Given the description of an element on the screen output the (x, y) to click on. 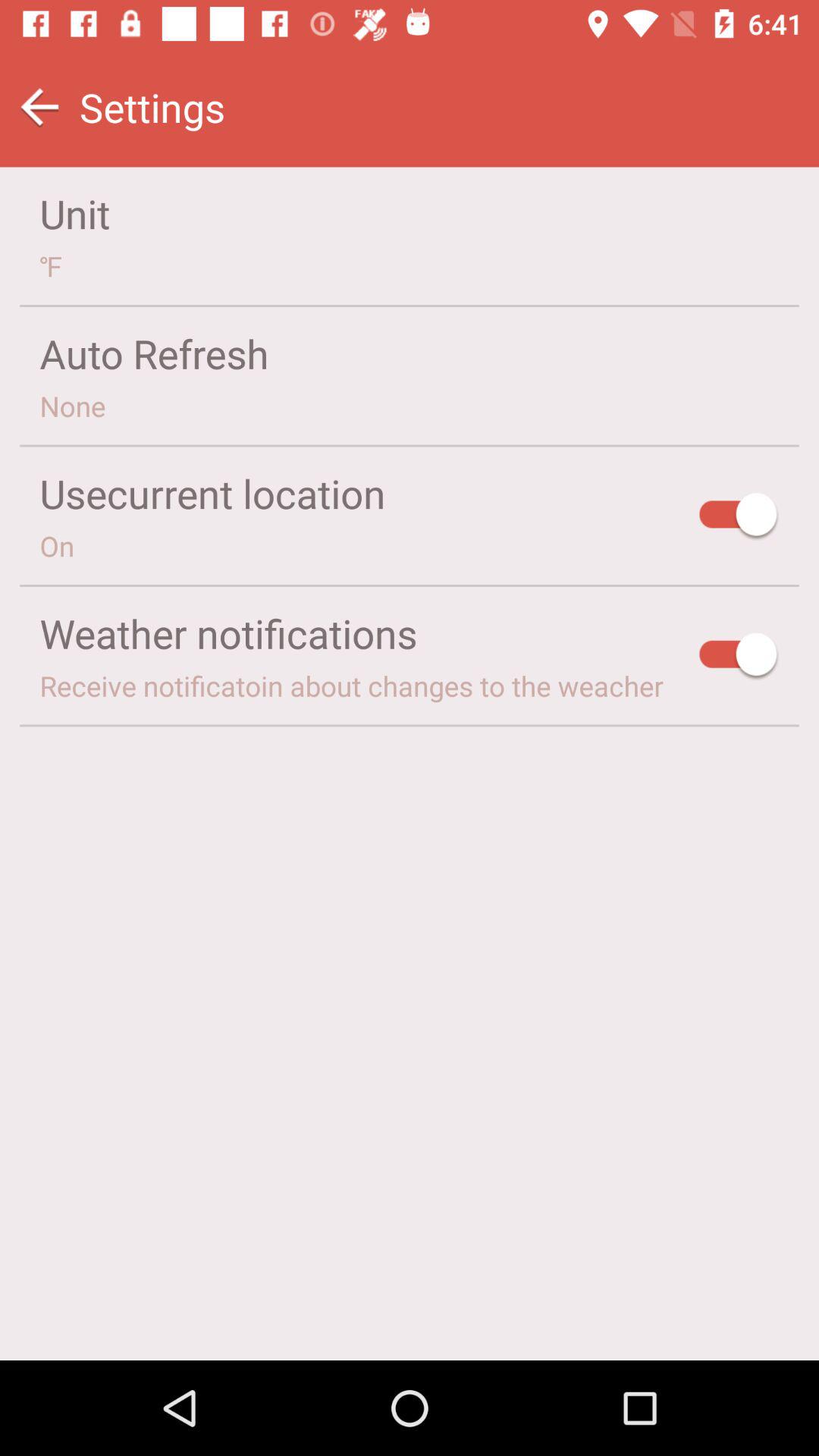
press item next to the usecurrent location icon (739, 516)
